Given the description of an element on the screen output the (x, y) to click on. 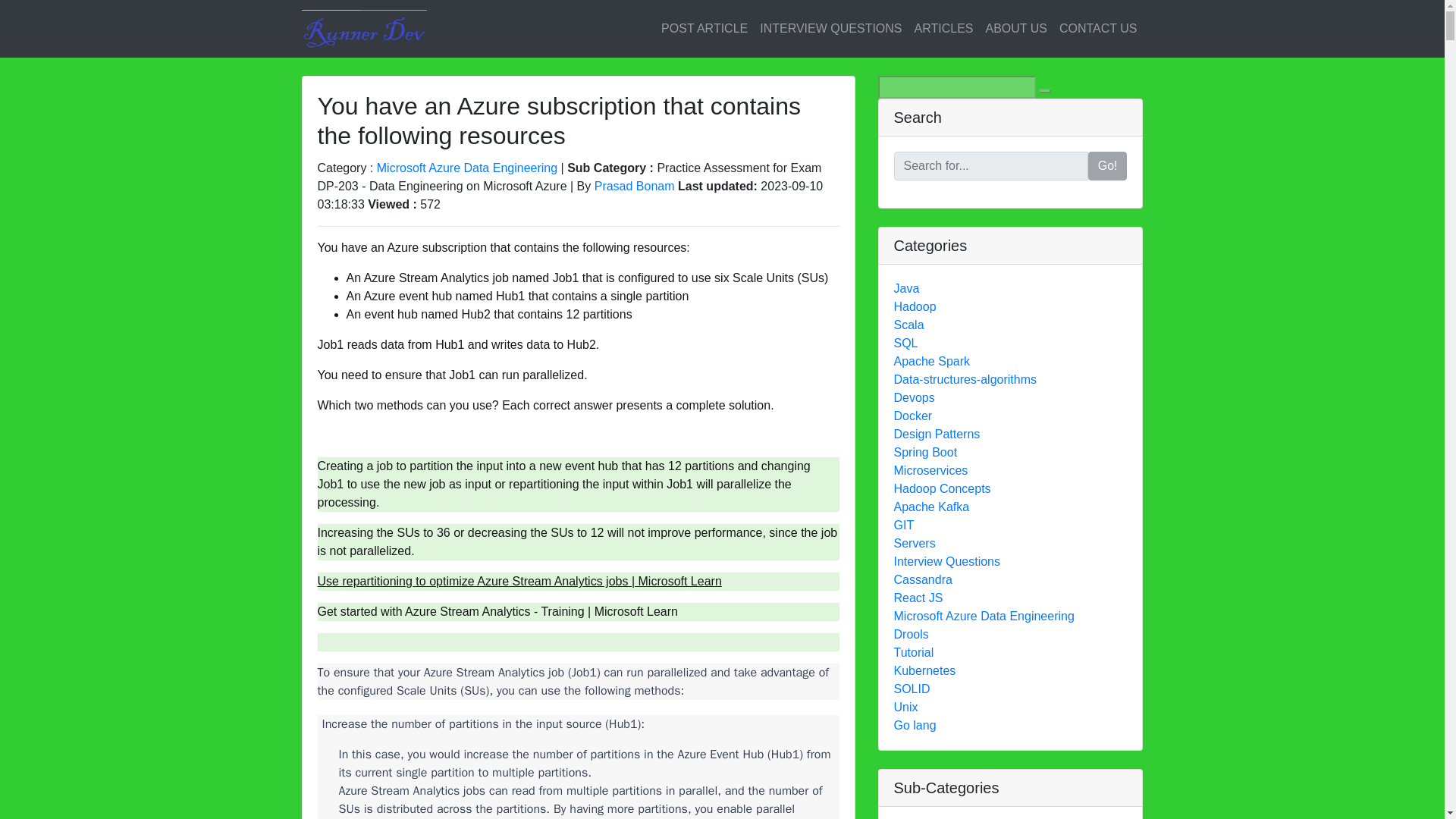
SOLID (911, 688)
Go! (1106, 165)
Scala (908, 324)
Drools (910, 634)
ABOUT US (1015, 28)
Apache Spark (931, 360)
POST ARTICLE (704, 28)
Devops (913, 397)
Hadoop (914, 306)
Microservices (930, 470)
